Given the description of an element on the screen output the (x, y) to click on. 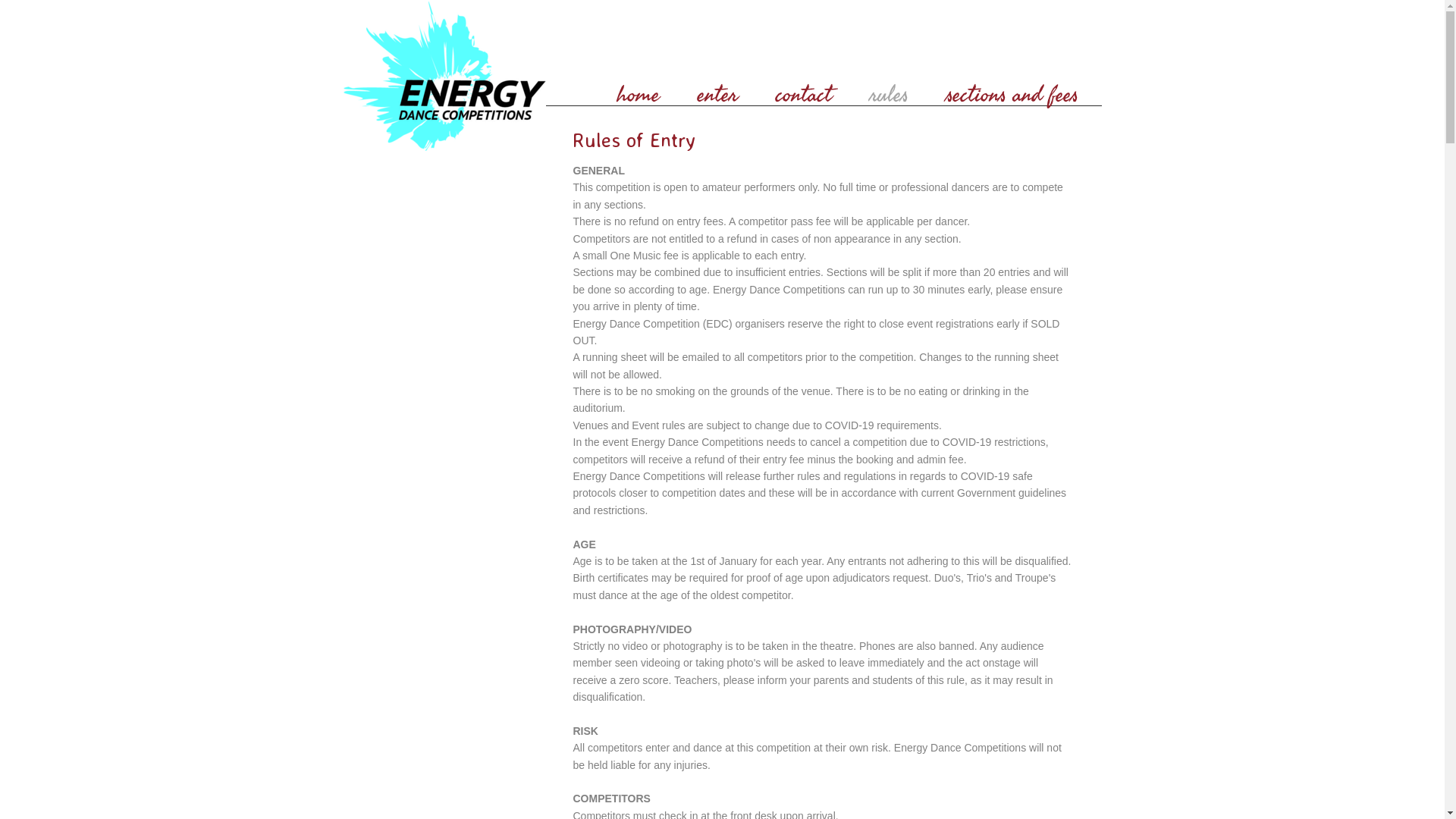
rules Element type: text (888, 91)
contact Element type: text (803, 91)
sections and fees Element type: text (1011, 91)
enter Element type: text (716, 91)
home Element type: text (637, 91)
